Given the description of an element on the screen output the (x, y) to click on. 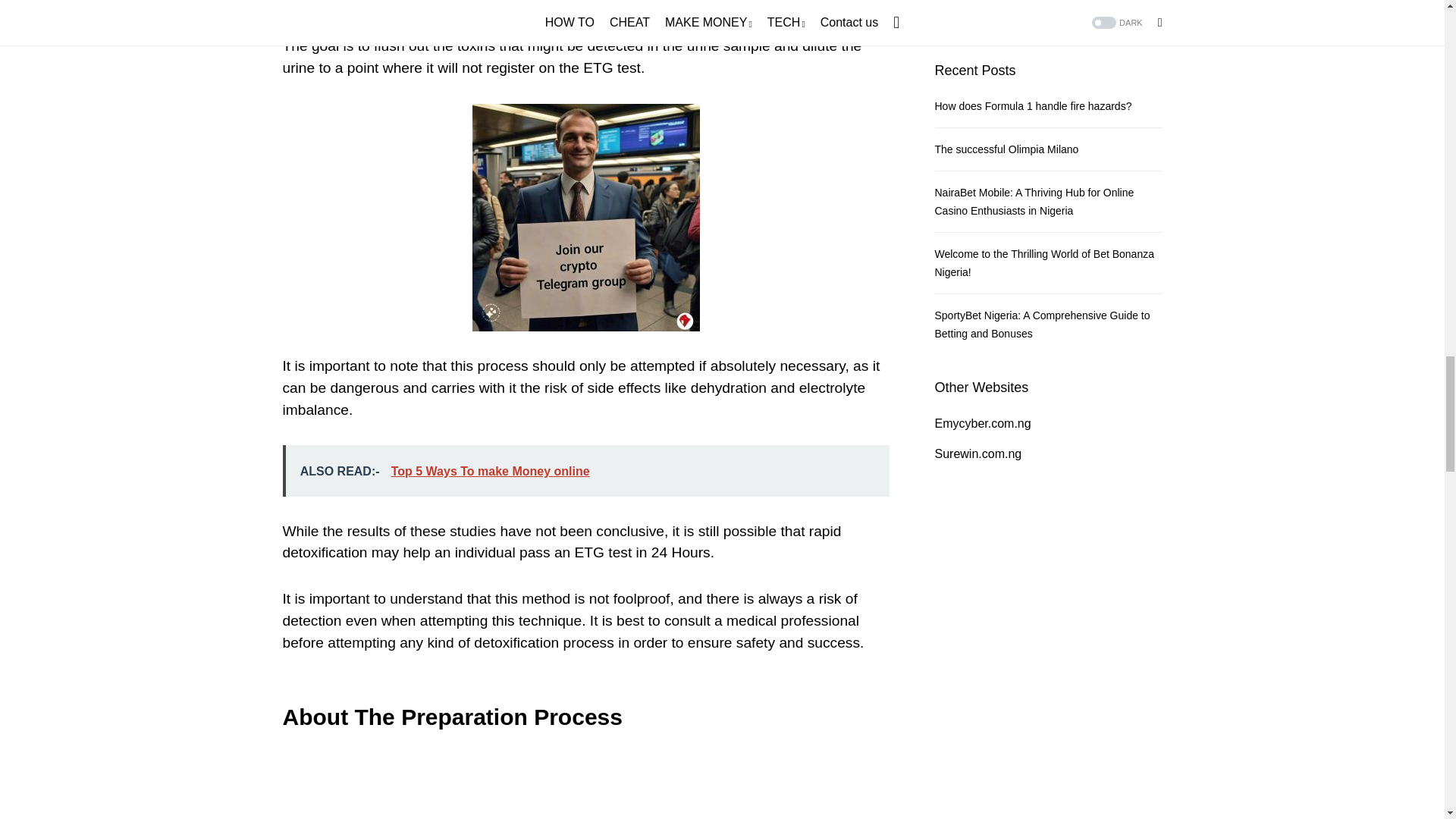
Can you pass a alcohol test in 24 hours? (585, 787)
